Given the description of an element on the screen output the (x, y) to click on. 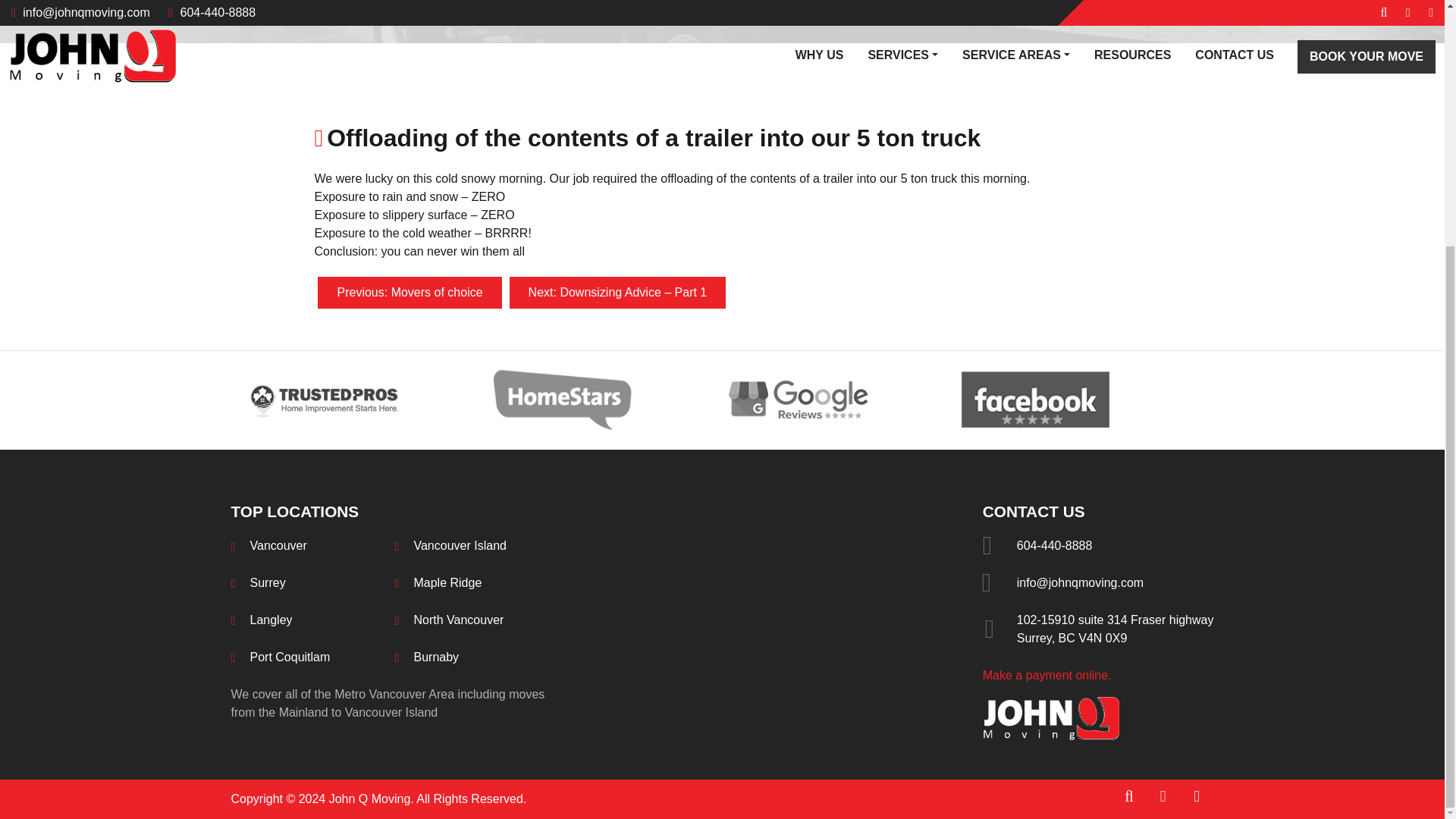
604-440-8888 (1054, 545)
Vancouver (278, 545)
Make a payment online. (1047, 675)
Surrey (1115, 628)
Langley (267, 582)
Vancouver Island (271, 619)
Port Coquitlam (459, 545)
Burnaby (290, 656)
Maple Ridge (435, 656)
Previous: Movers of choice (447, 582)
North Vancouver (408, 292)
